Given the description of an element on the screen output the (x, y) to click on. 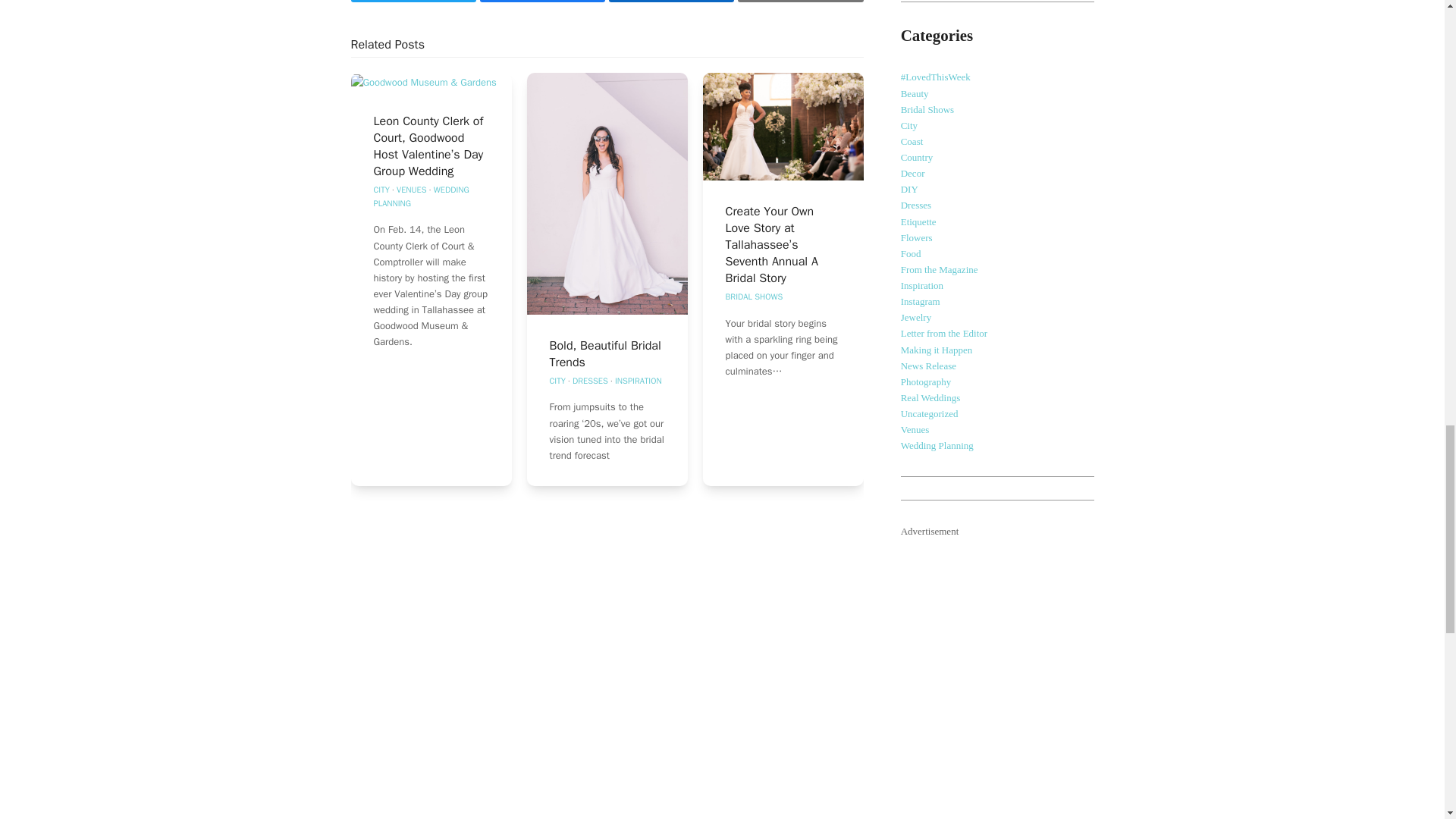
Share on Facebook (542, 1)
Share on Twitter (413, 1)
Share on LinkedIn (670, 1)
